Given the description of an element on the screen output the (x, y) to click on. 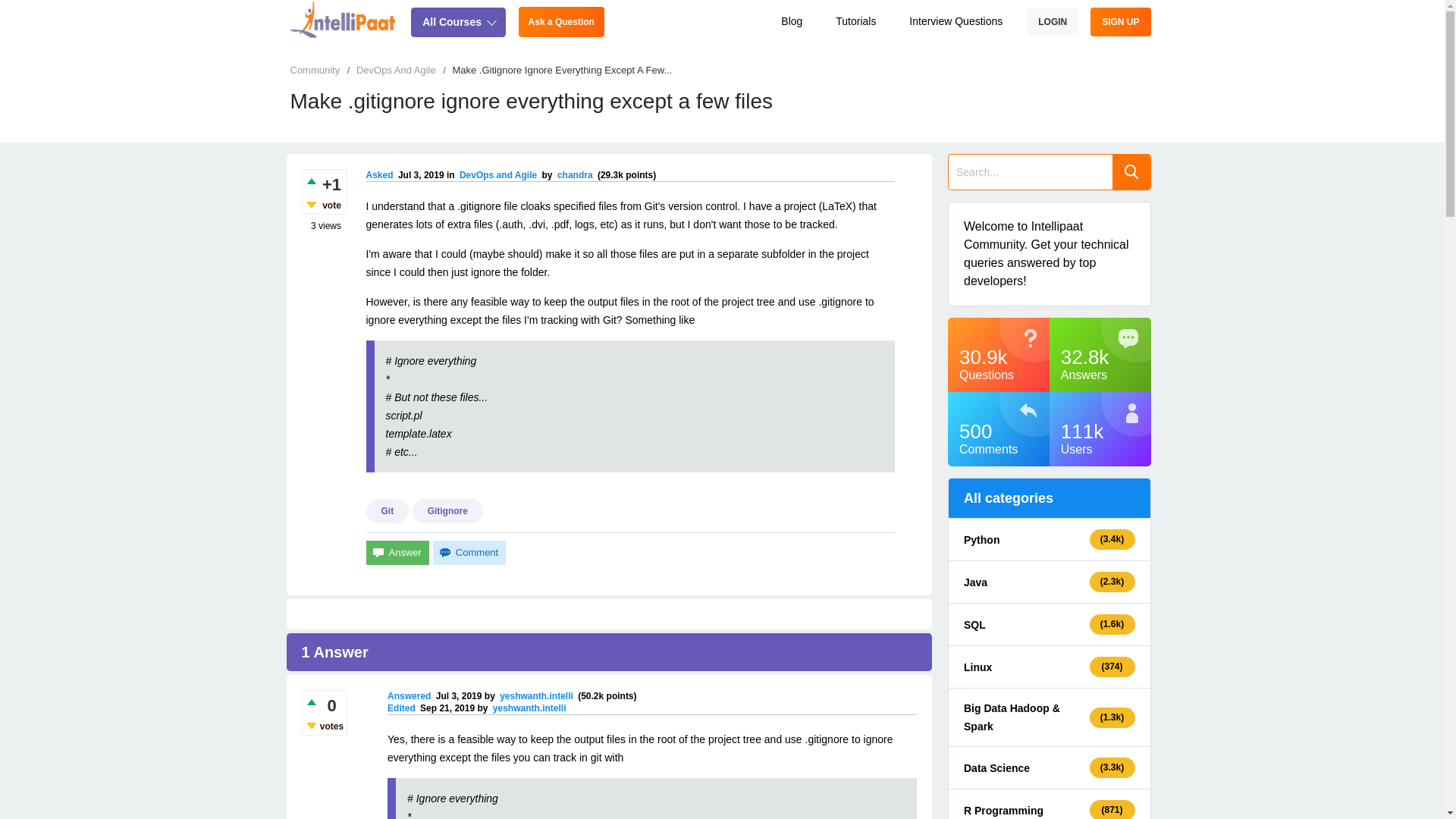
Search (1131, 171)
answer (396, 552)
Click to vote up (309, 180)
Click to vote down (309, 204)
SIGN UP (1120, 21)
Click to vote down (309, 724)
LOGIN (1052, 22)
Search (1131, 171)
comment (468, 552)
Click to vote up (309, 701)
